Given the description of an element on the screen output the (x, y) to click on. 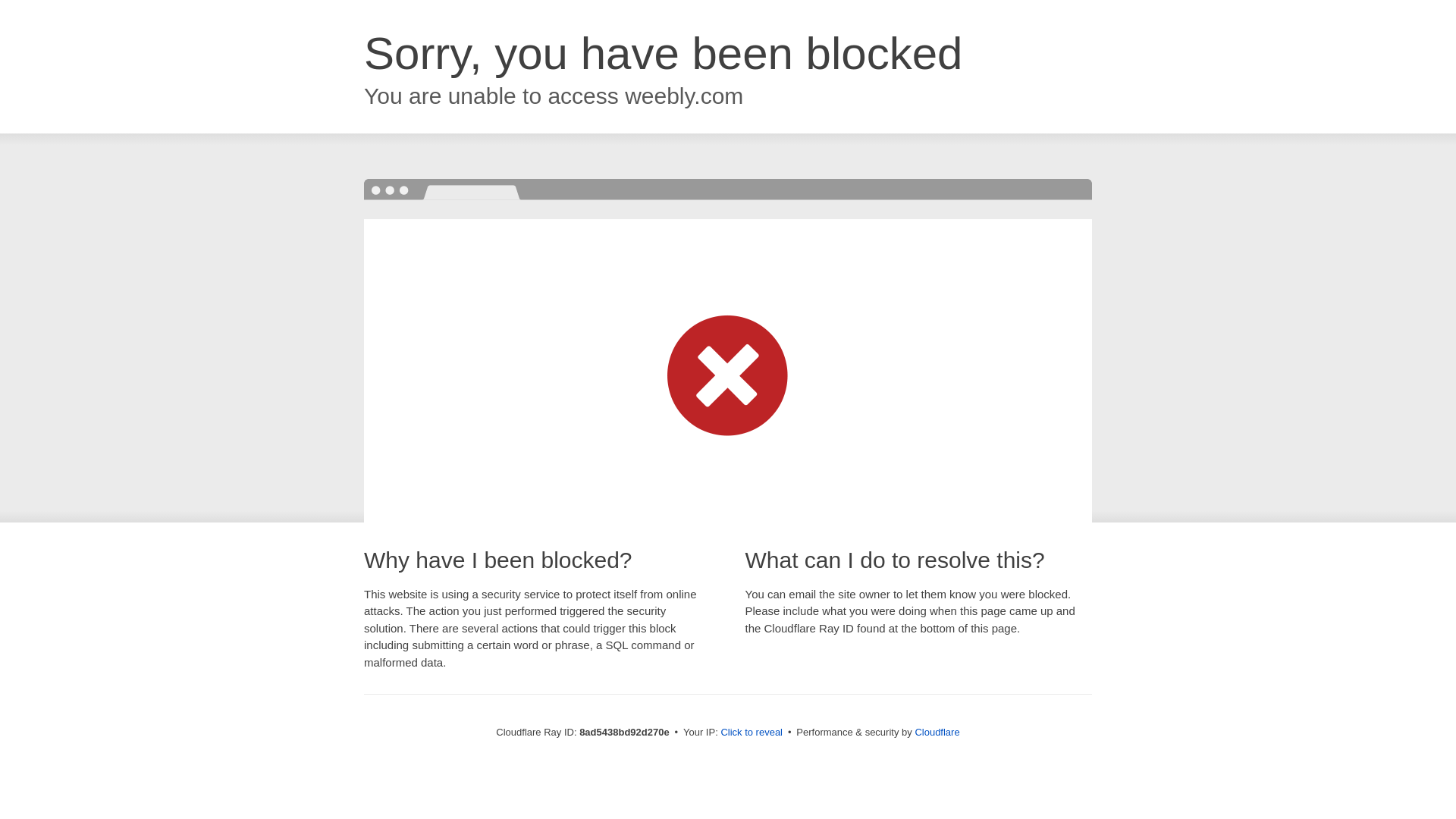
Click to reveal (751, 732)
Cloudflare (936, 731)
